Given the description of an element on the screen output the (x, y) to click on. 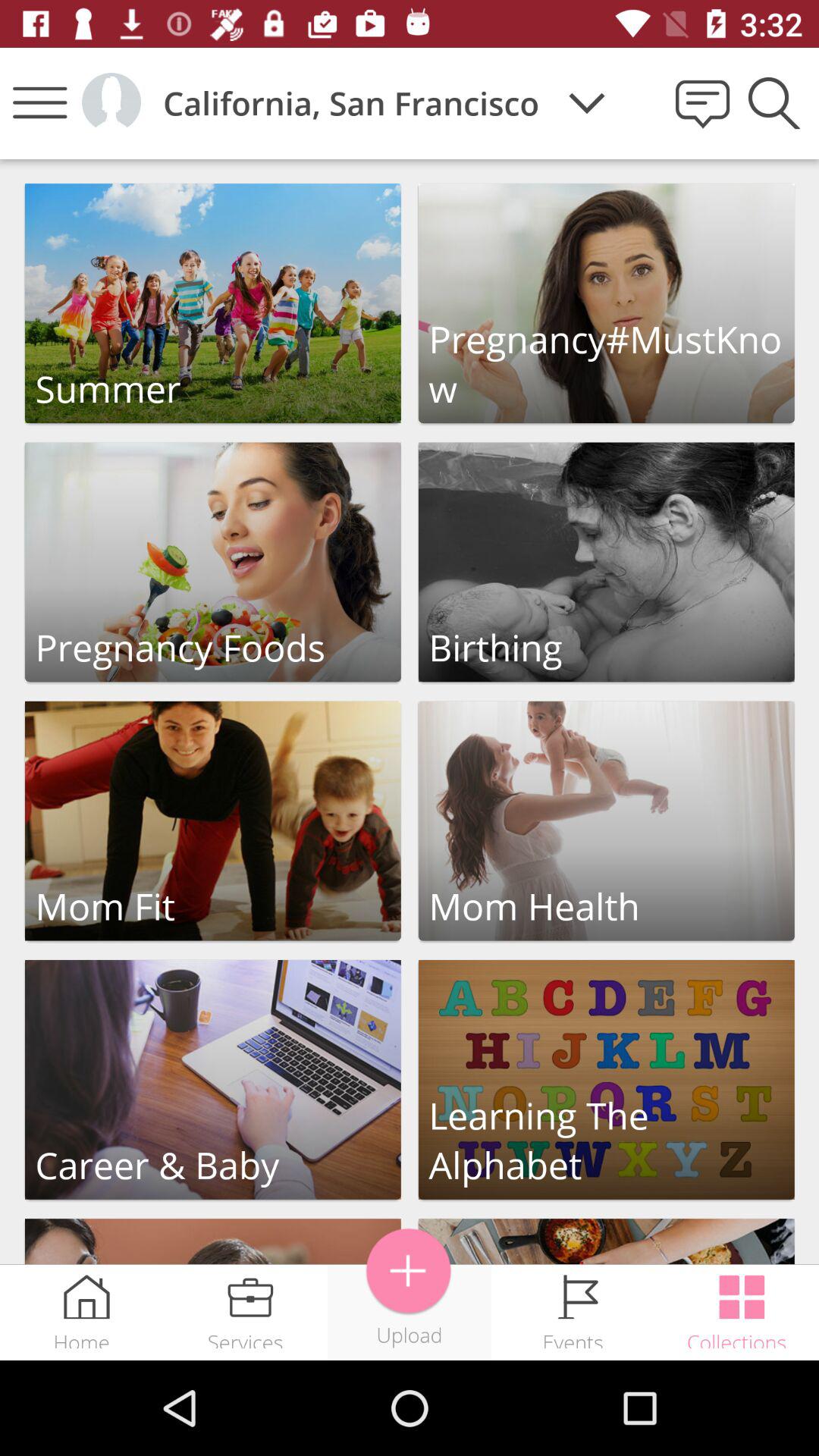
airline (408, 1271)
